Given the description of an element on the screen output the (x, y) to click on. 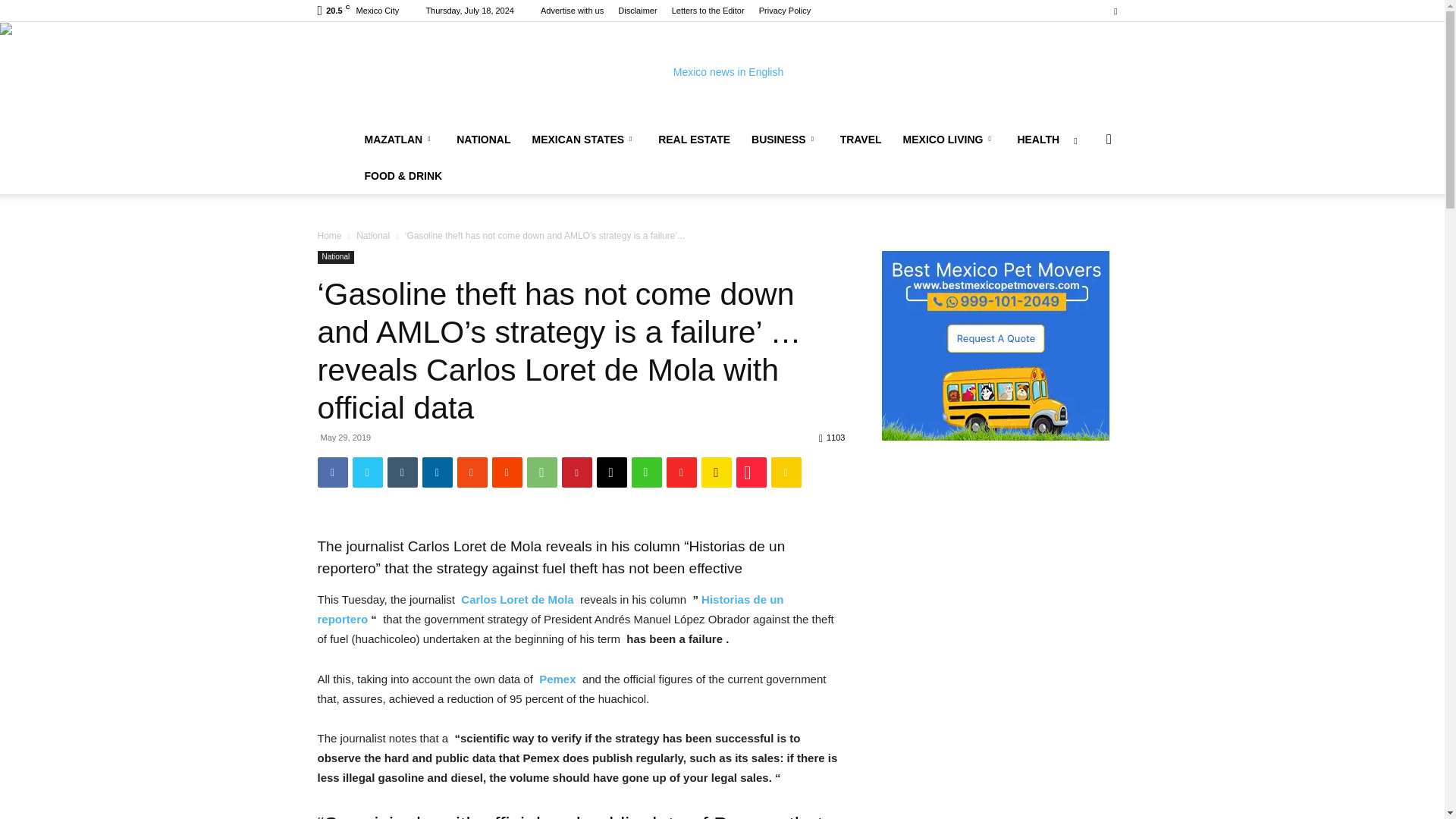
Digg (610, 472)
Flip (680, 472)
ReddIt (506, 472)
MAZATLAN (399, 139)
Naver (645, 472)
Facebook (332, 472)
WhatsApp (540, 472)
Tumblr (401, 472)
Twitter (1114, 10)
Privacy Policy (784, 10)
View all posts in National (373, 235)
Advertise with us (572, 10)
Mix (471, 472)
MEXICAN STATES (584, 139)
Pinterest (575, 472)
